Given the description of an element on the screen output the (x, y) to click on. 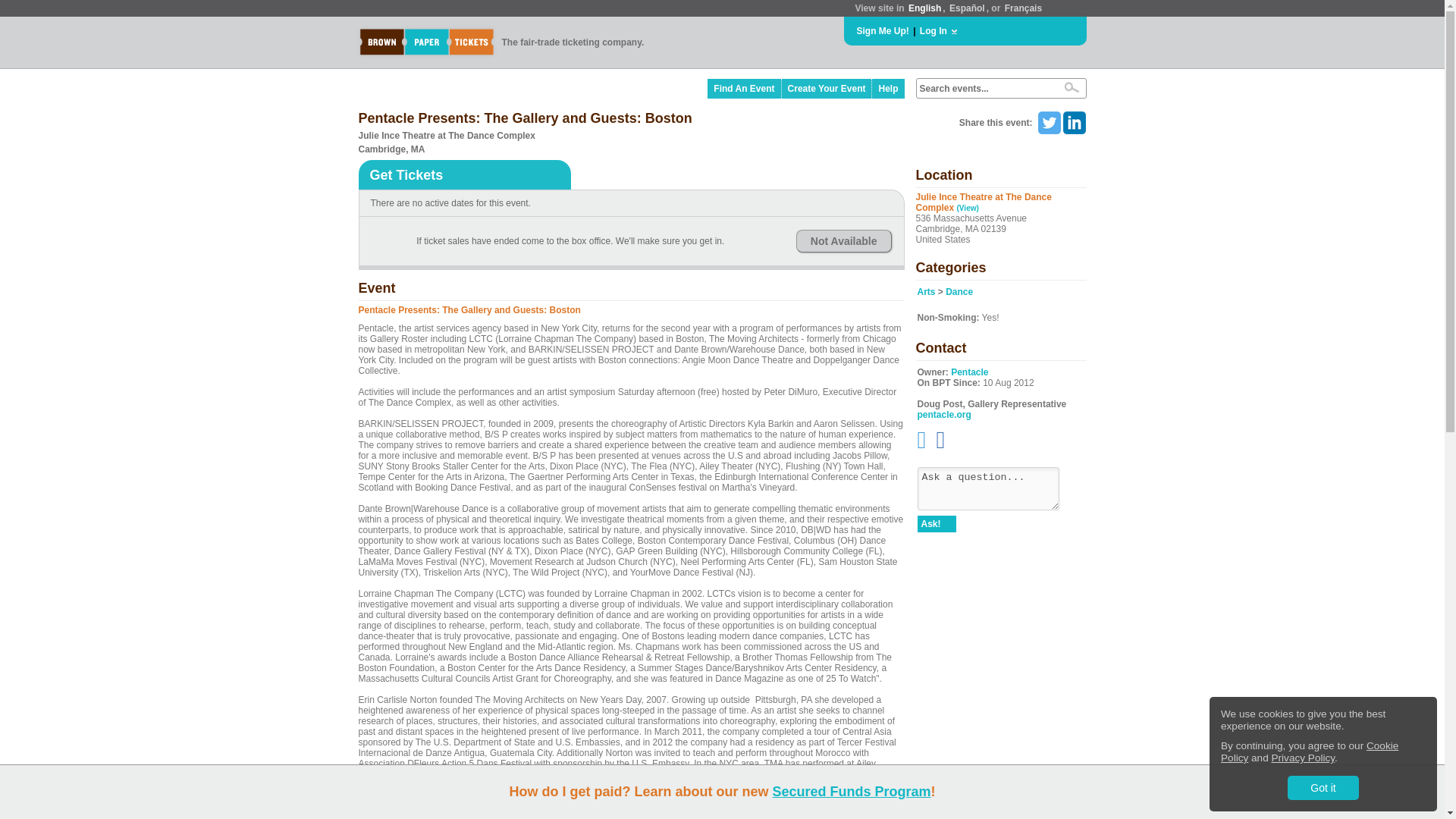
Ask! (936, 523)
Got it (1322, 787)
Find An Event (743, 88)
Arts (926, 291)
Got it (1322, 787)
Help (888, 88)
Log In (933, 30)
Search events... (984, 88)
English (924, 8)
pentacle.org (944, 414)
